Given the description of an element on the screen output the (x, y) to click on. 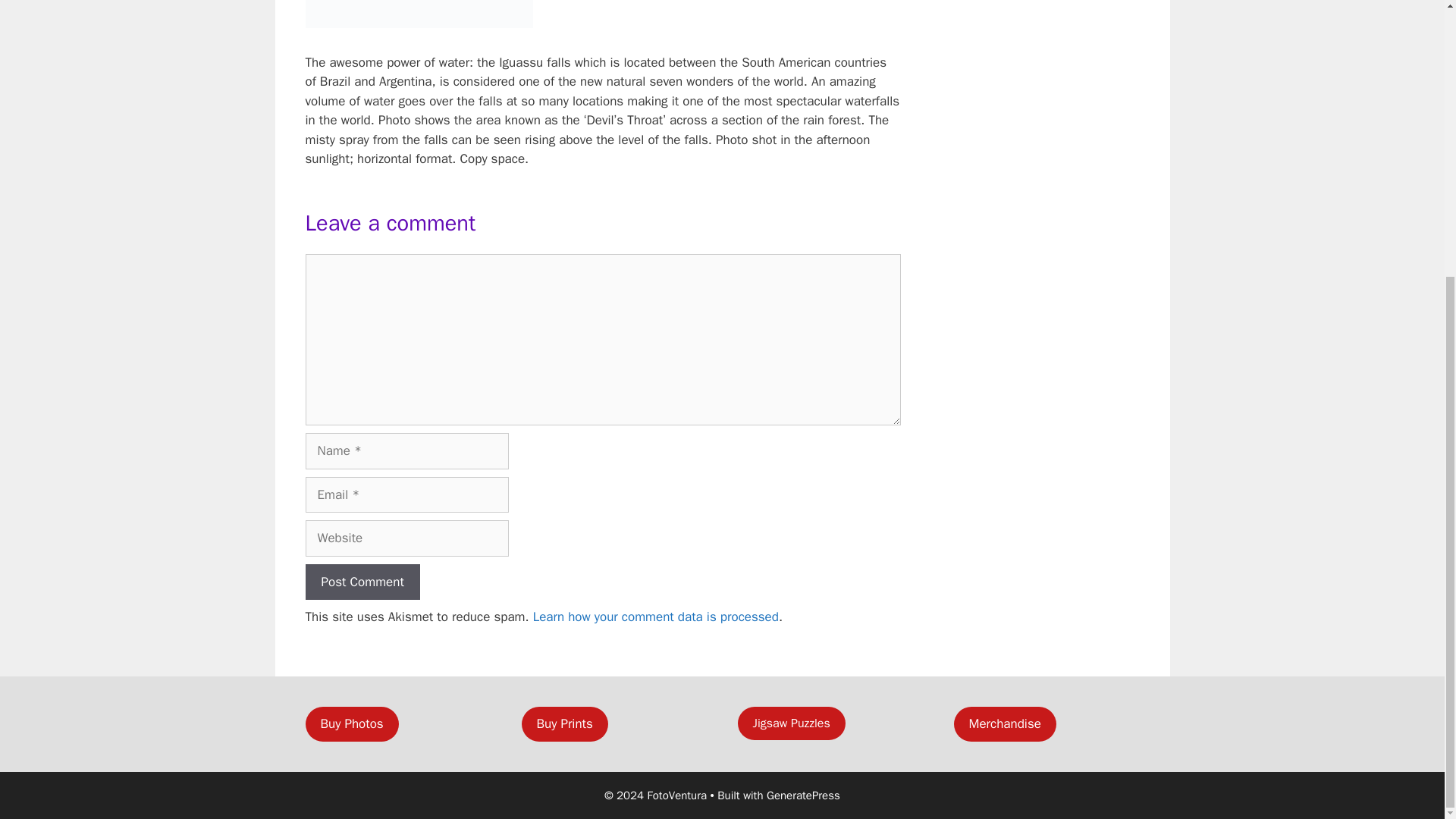
Post Comment (361, 582)
Learn how your comment data is processed (655, 616)
Post Comment (361, 582)
